Given the description of an element on the screen output the (x, y) to click on. 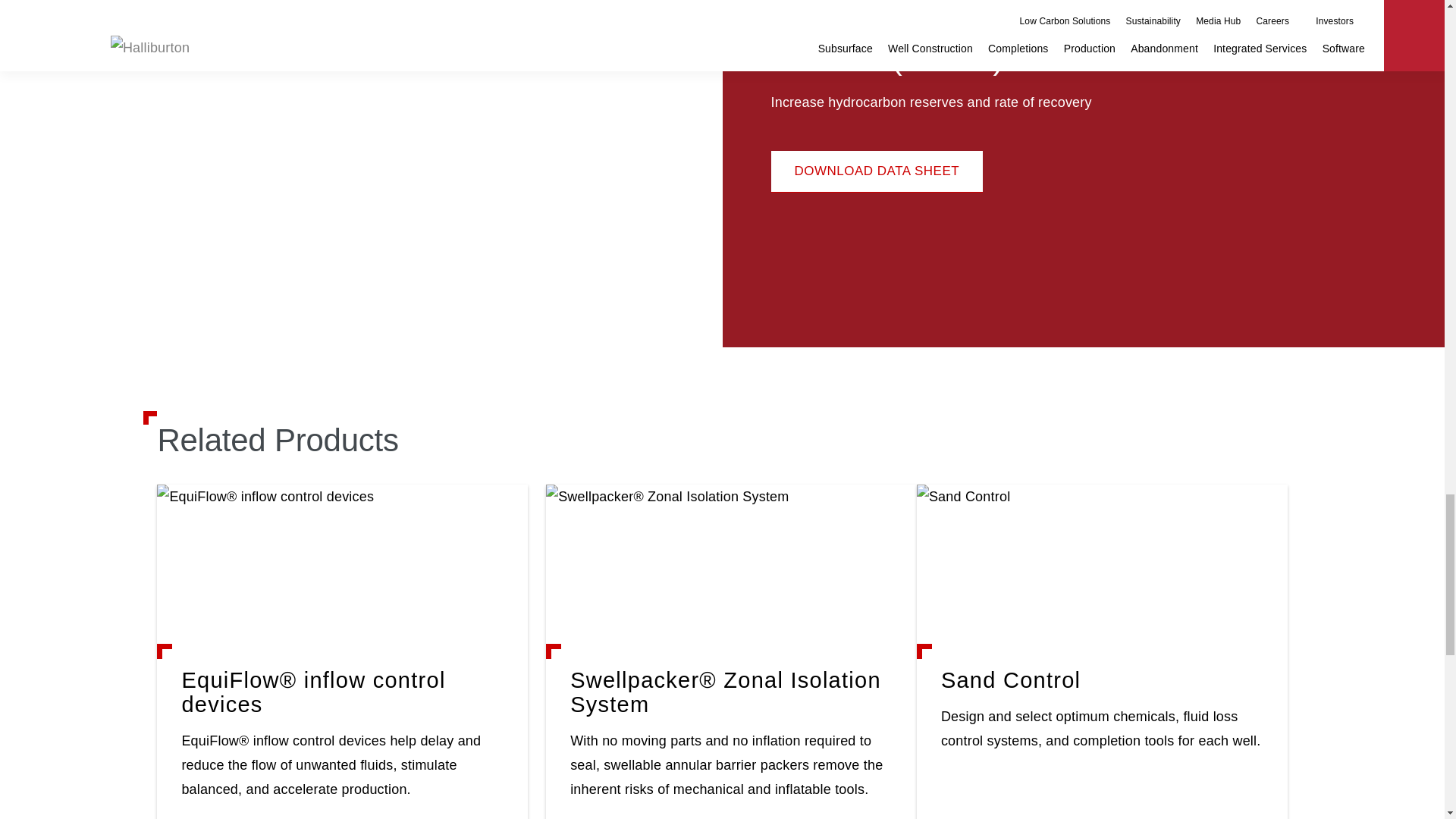
Download Data Sheet (876, 171)
